Given the description of an element on the screen output the (x, y) to click on. 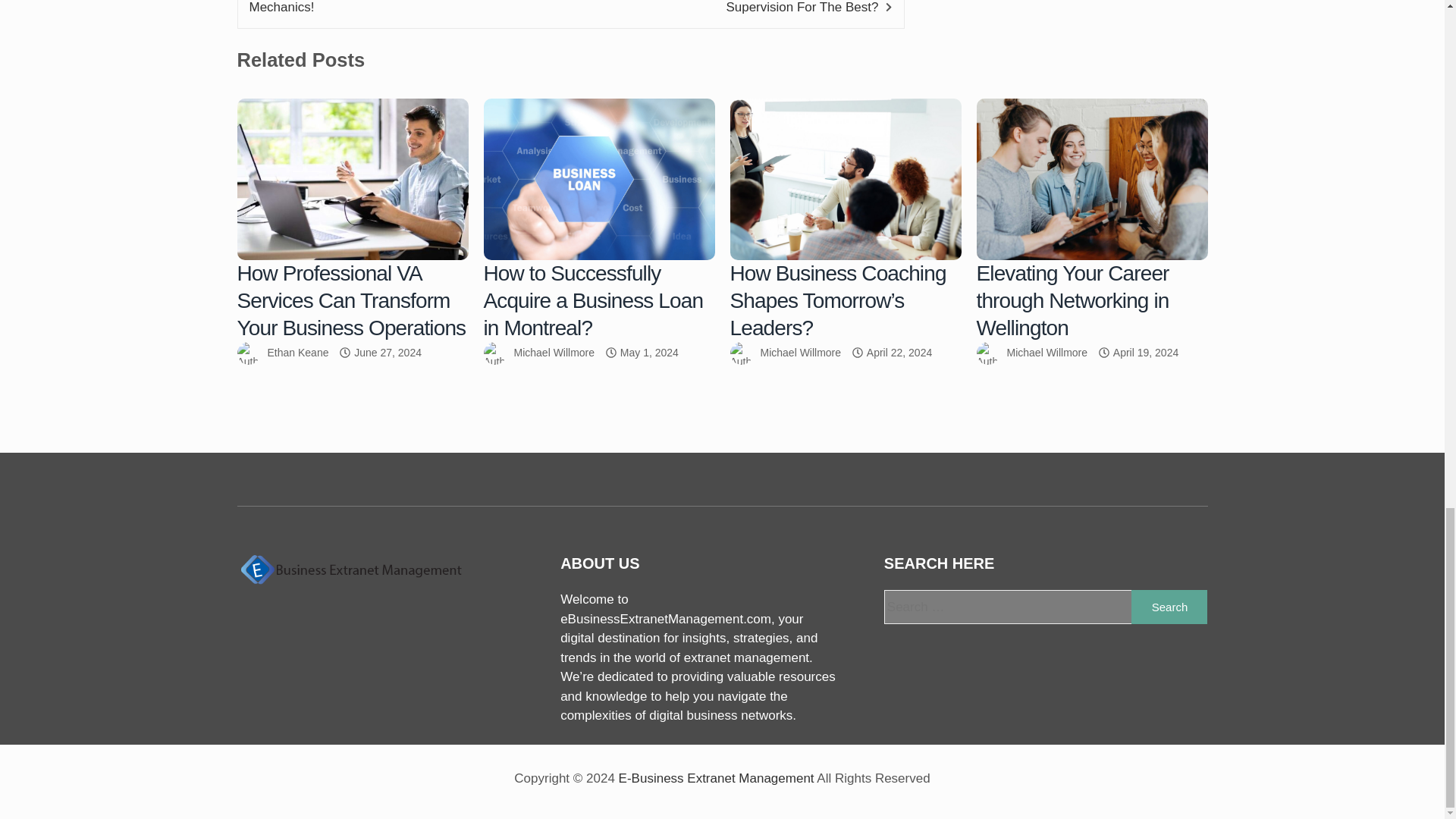
Search (1169, 606)
Elevating Your Career through Networking in Wellington (1092, 179)
How to Successfully Acquire a Business Loan in Montreal? (593, 300)
June 27, 2024 (387, 352)
How to Successfully Acquire a Business Loan in Montreal? (598, 179)
Ethan Keane (297, 352)
Search (1169, 606)
Keep Cars Perfect by Getting Insurance for Mechanics! (378, 7)
